Given the description of an element on the screen output the (x, y) to click on. 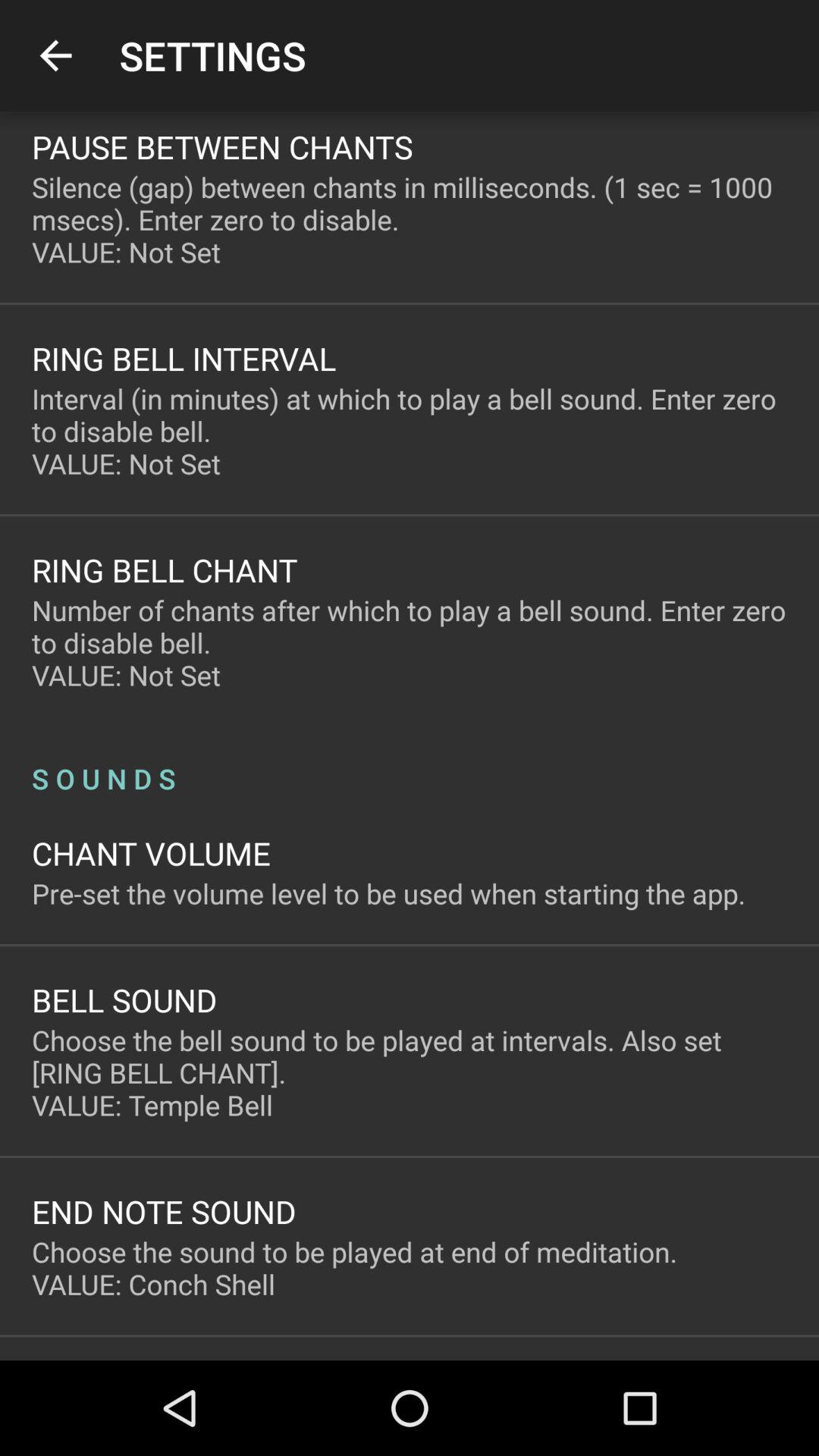
choose the chant volume item (150, 852)
